Given the description of an element on the screen output the (x, y) to click on. 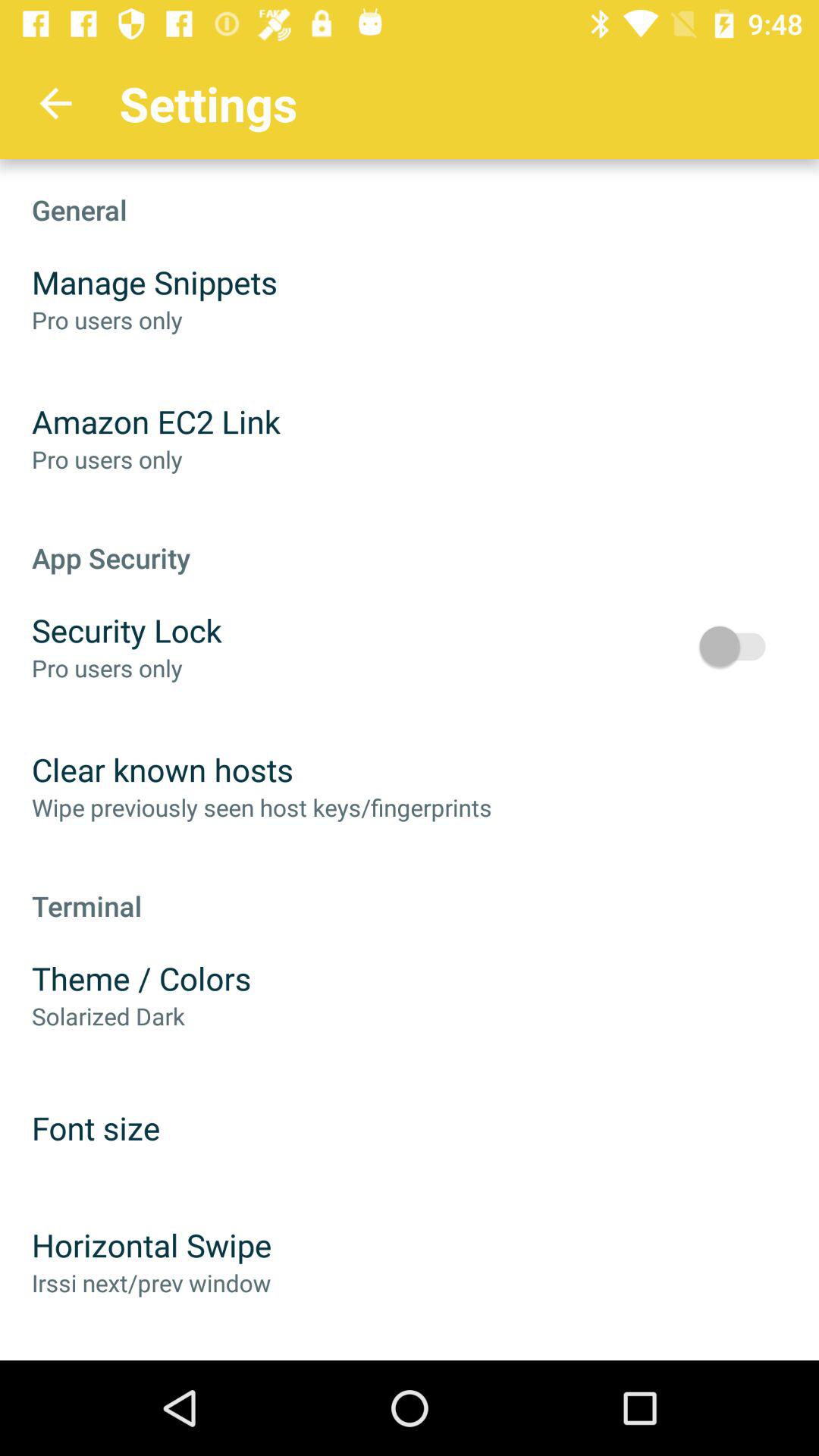
scroll to the terminal icon (409, 889)
